Given the description of an element on the screen output the (x, y) to click on. 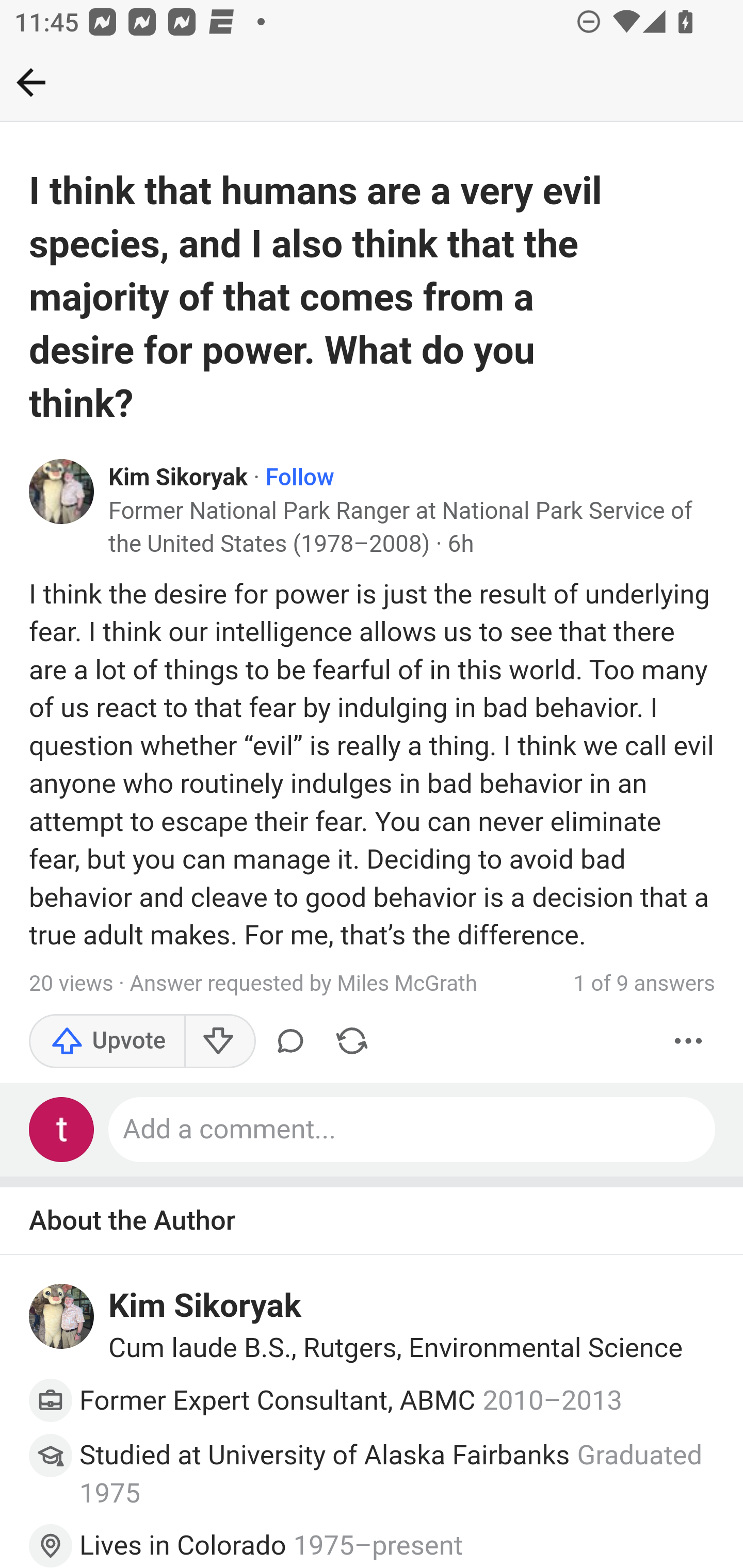
Back (30, 82)
Profile photo for Kim Sikoryak (61, 491)
Kim Sikoryak (178, 477)
Follow (299, 477)
1 of 9 answers (644, 983)
Upvote (106, 1040)
Downvote (219, 1040)
Comment (290, 1040)
Share (351, 1040)
More (688, 1040)
Profile photo for Test Appium (61, 1129)
Add a comment... (412, 1129)
Profile photo for Kim Sikoryak (61, 1316)
Kim Sikoryak (204, 1306)
1 (371, 1517)
